Given the description of an element on the screen output the (x, y) to click on. 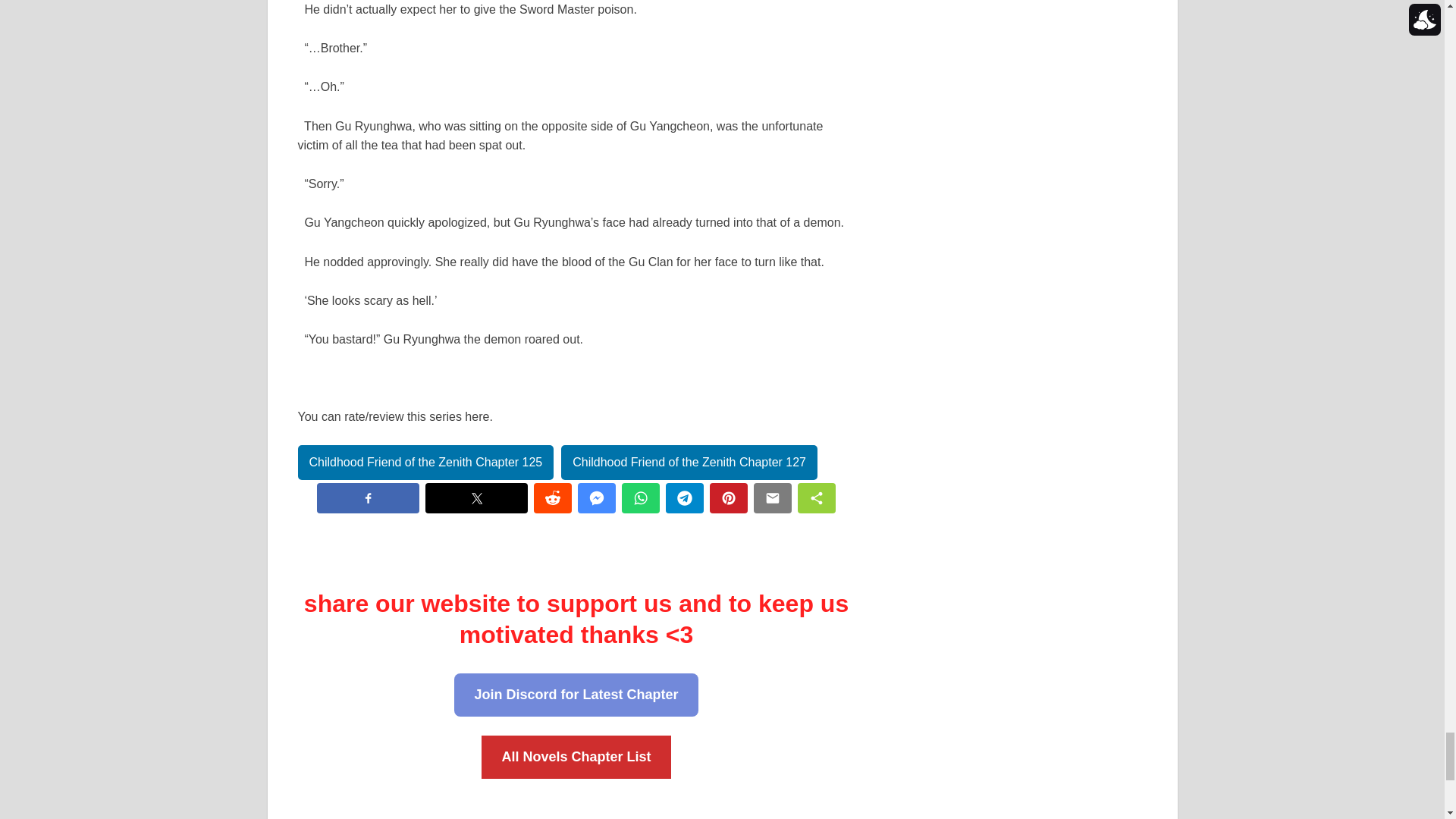
Childhood Friend of the Zenith Chapter 125 (425, 462)
All Novels Chapter List (575, 756)
Join Discord for Latest Chapter (575, 694)
Childhood Friend of the Zenith Chapter 127 (688, 462)
